Given the description of an element on the screen output the (x, y) to click on. 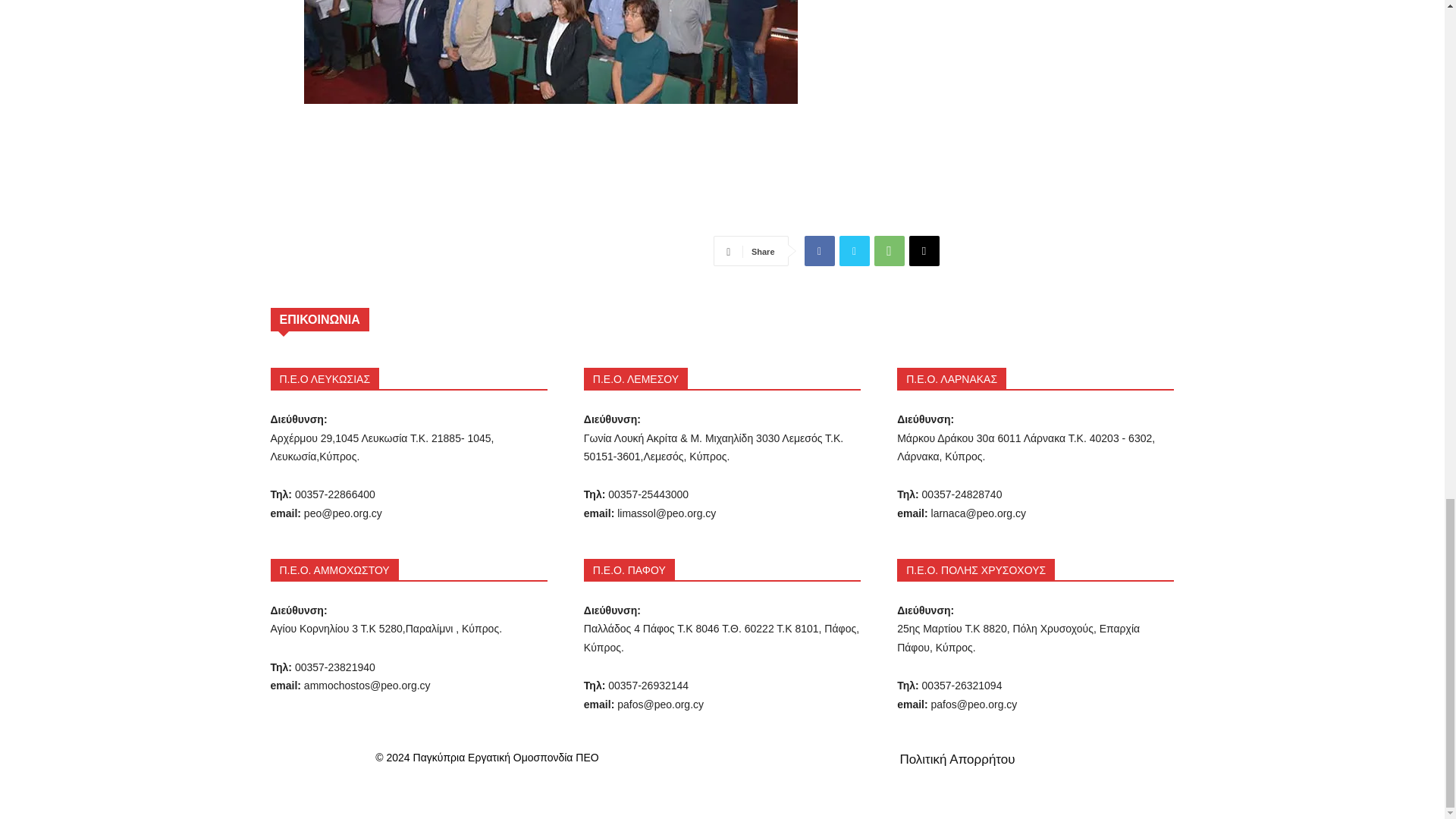
Twitter (853, 250)
Facebook (818, 250)
WhatsApp (888, 250)
